Given the description of an element on the screen output the (x, y) to click on. 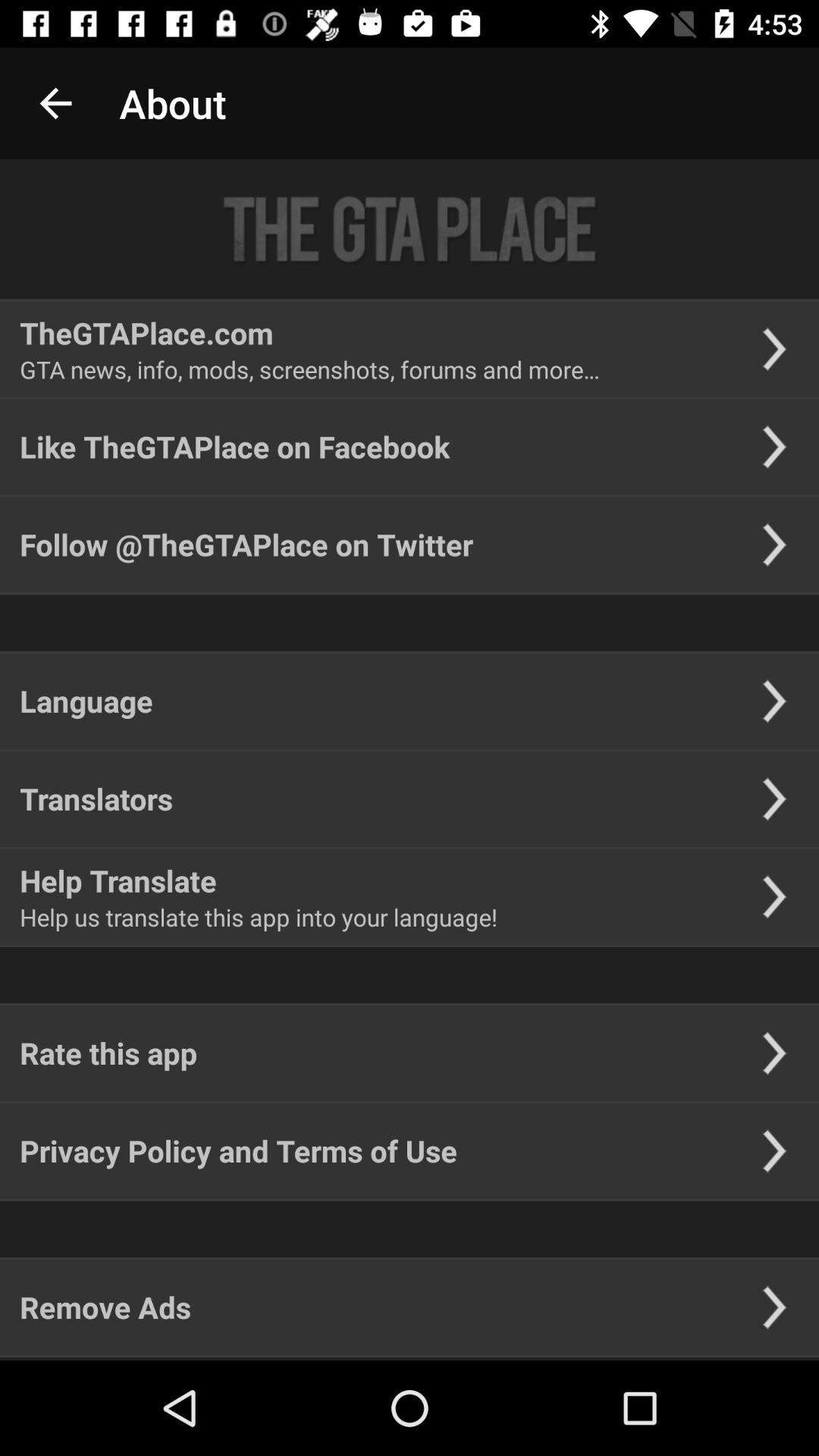
turn off item below thegtaplace.com item (309, 369)
